Given the description of an element on the screen output the (x, y) to click on. 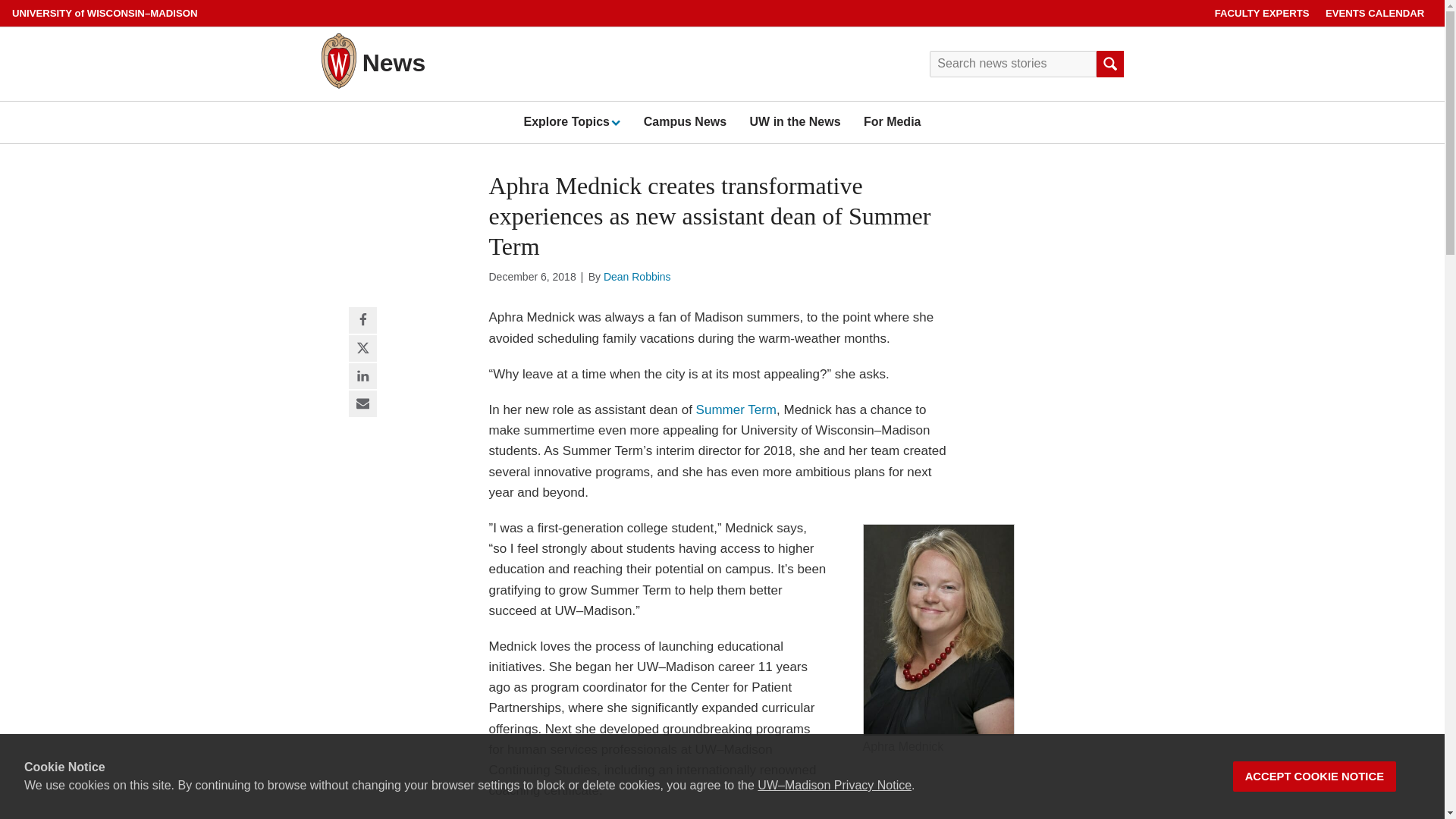
ACCEPT COOKIE NOTICE (1314, 776)
Dean Robbins (637, 276)
Share via Linked In (362, 376)
Share via email (362, 404)
Skip to main content (3, 3)
Share via X, formerly Twitter (362, 349)
For Media (892, 121)
Campus News (684, 121)
EVENTS CALENDAR (1374, 13)
Submit search (1109, 63)
UW in the News (795, 121)
News (394, 62)
FACULTY EXPERTS (1262, 13)
Summer Term (735, 409)
Explore TopicsExpand (571, 121)
